Given the description of an element on the screen output the (x, y) to click on. 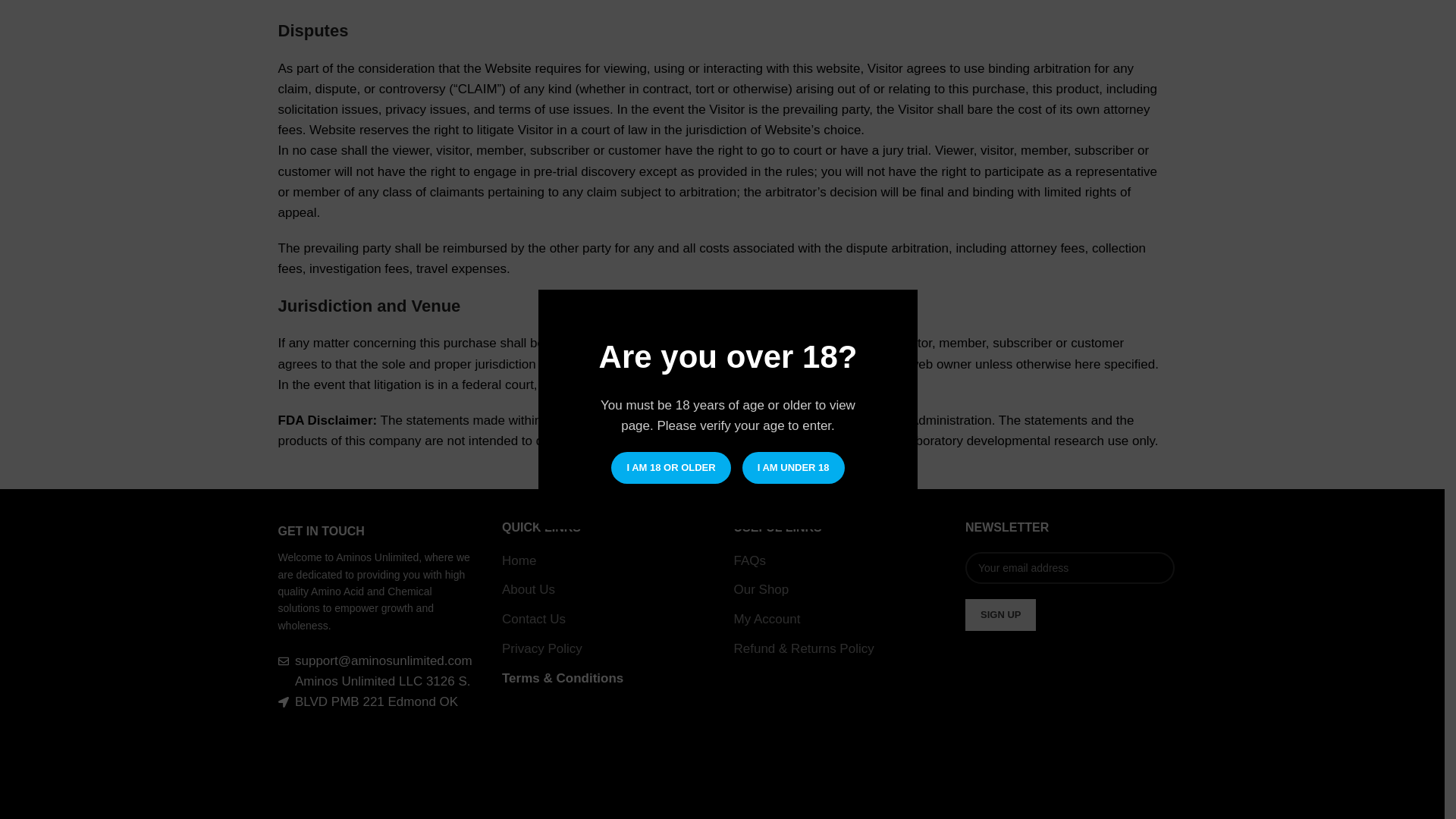
Sign up (1000, 614)
